Given the description of an element on the screen output the (x, y) to click on. 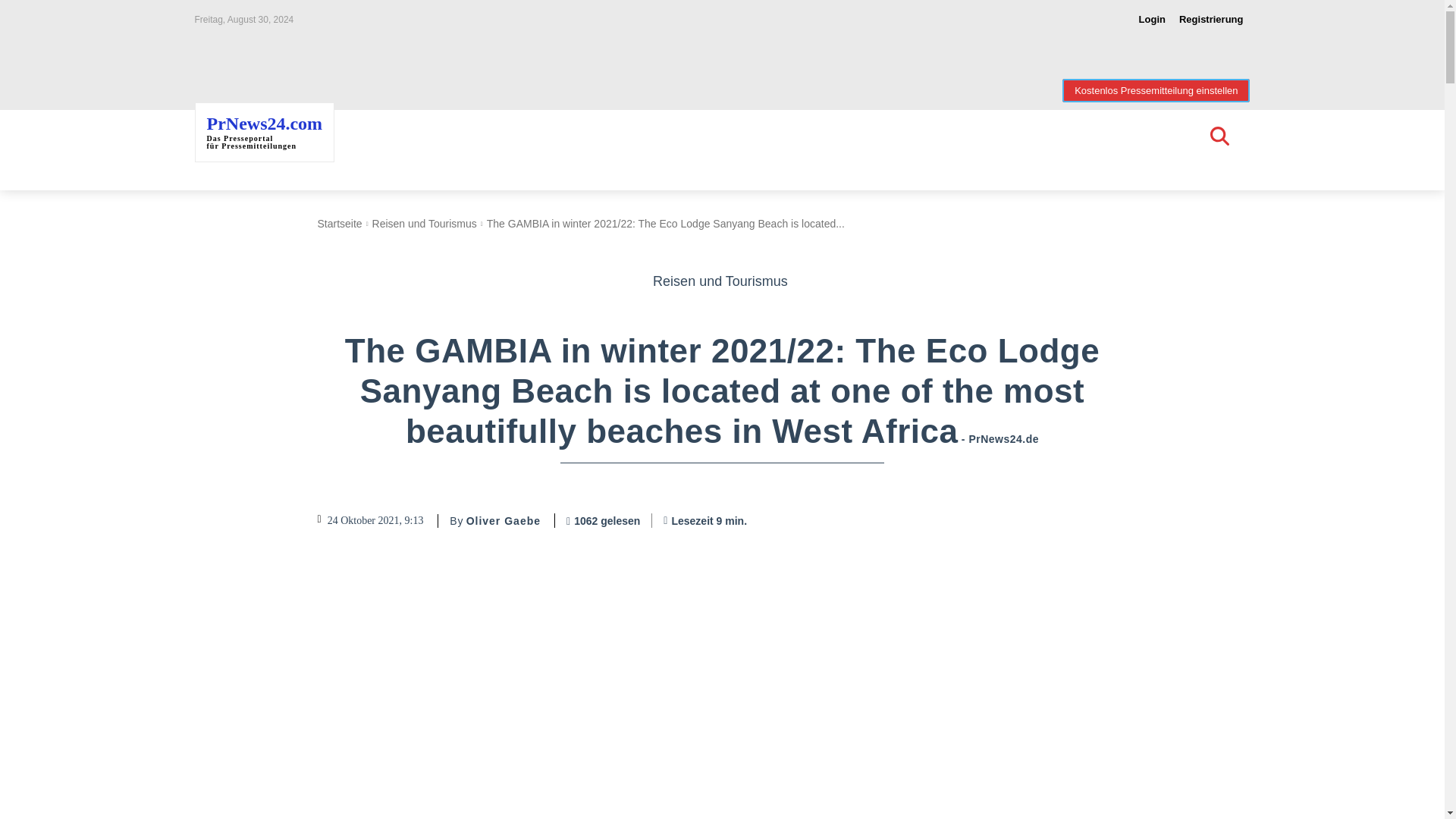
Registrierung (1211, 19)
Kostenlos Pressemitteilung einstellen (1155, 90)
Kostenlos Pressemitteilung einstellen (1155, 90)
Login (1152, 19)
